Given the description of an element on the screen output the (x, y) to click on. 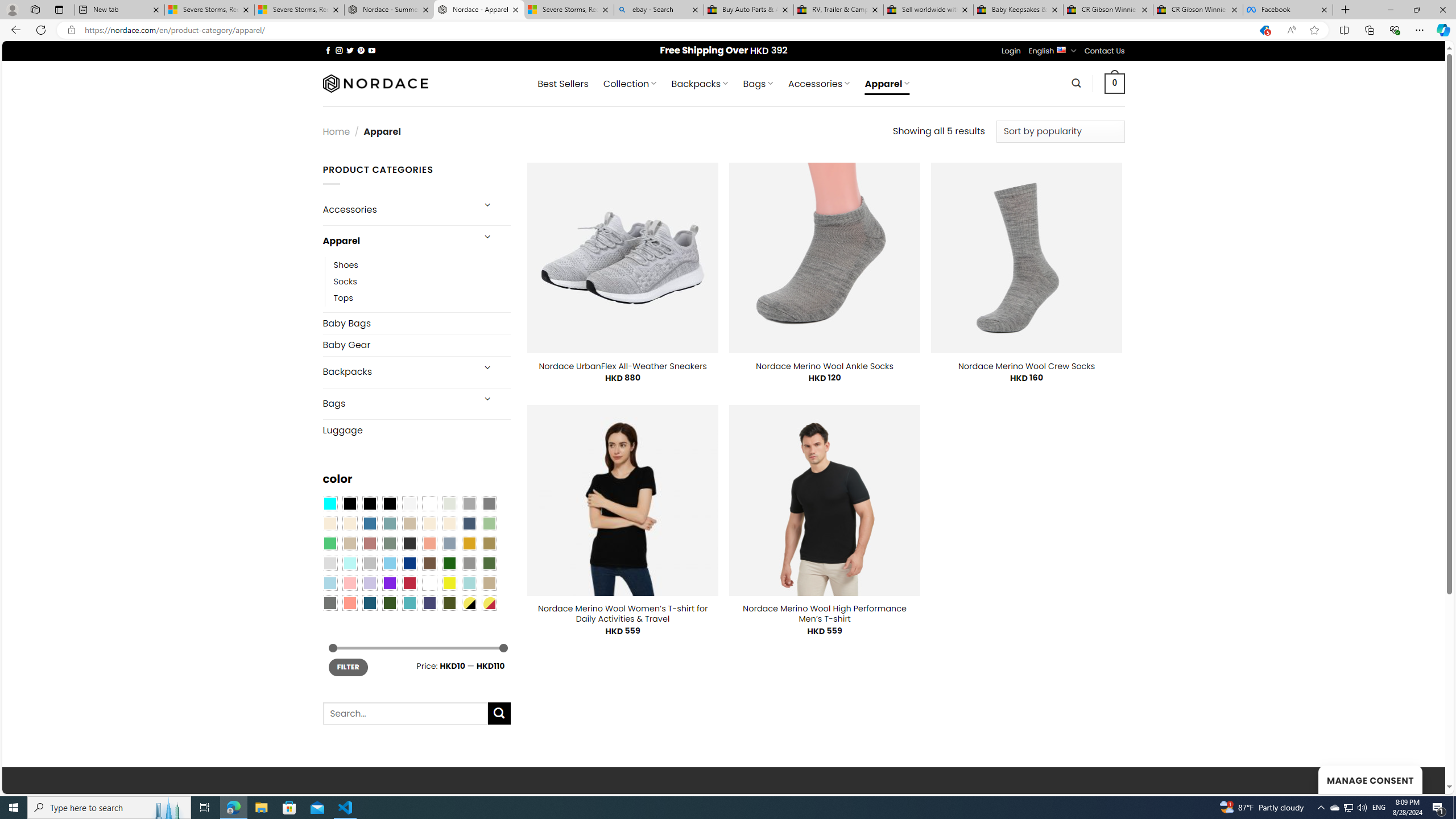
Ash Gray (449, 503)
Caramel (429, 522)
Dusty Blue (449, 542)
Army Green (449, 602)
Dark Gray (468, 503)
Aqua (468, 582)
Red (408, 582)
All Black (349, 503)
Apparel (397, 241)
FILTER (347, 667)
